Given the description of an element on the screen output the (x, y) to click on. 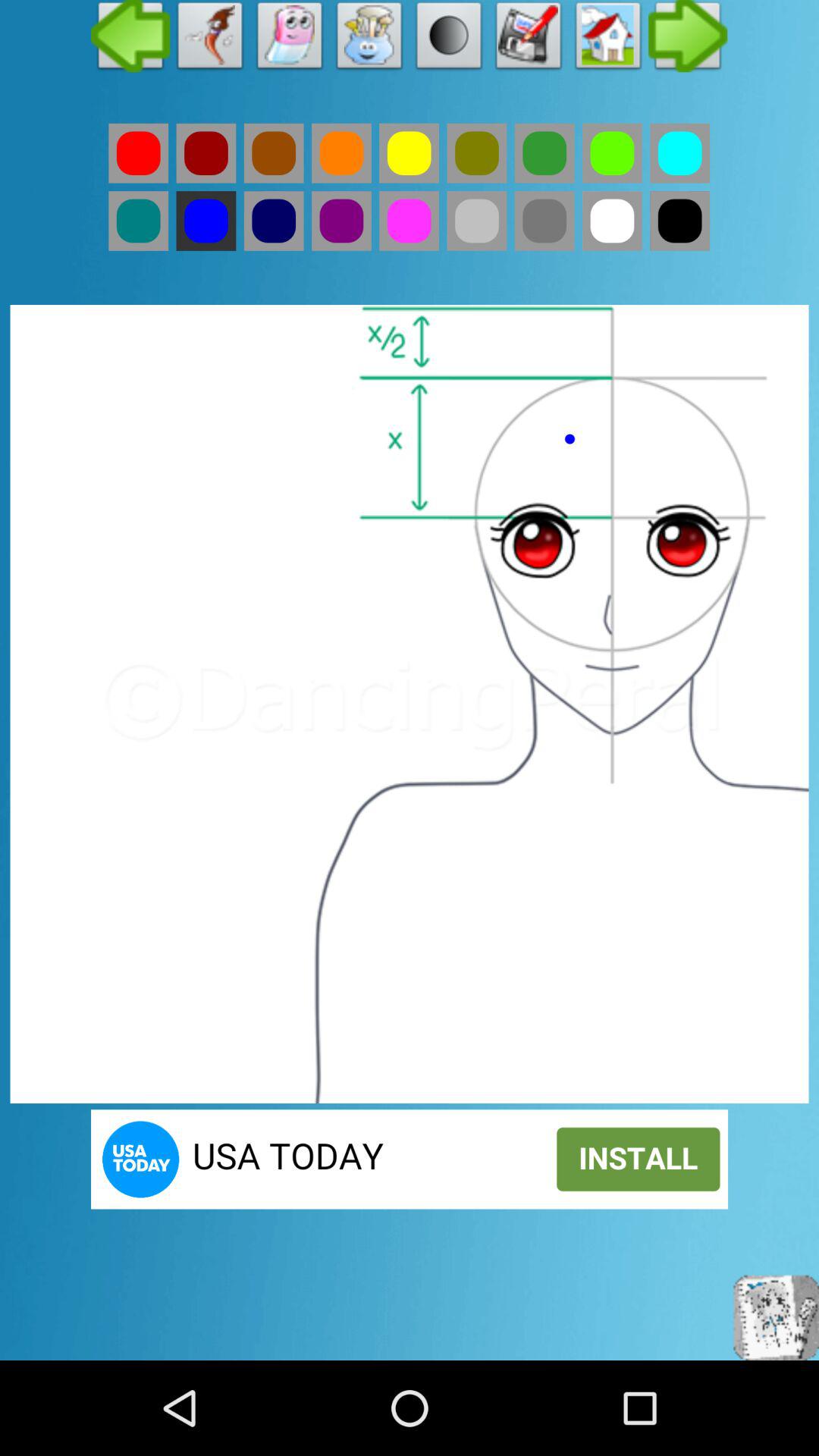
select black (679, 220)
